Given the description of an element on the screen output the (x, y) to click on. 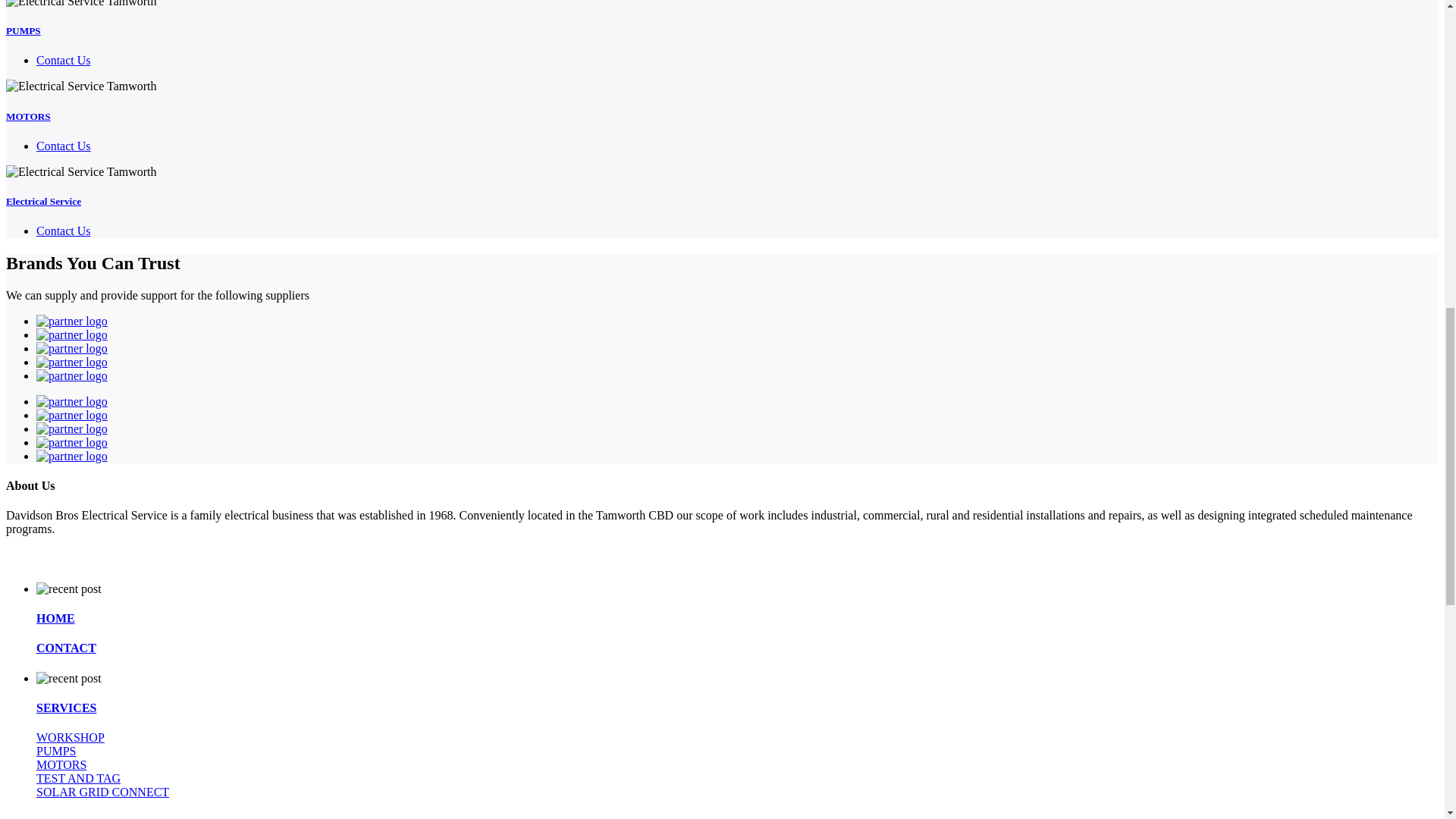
Contact Us (63, 230)
Contact Us (63, 60)
PUMPS (22, 30)
Electrical Service (43, 201)
Contact Us (63, 145)
MOTORS (27, 116)
